Given the description of an element on the screen output the (x, y) to click on. 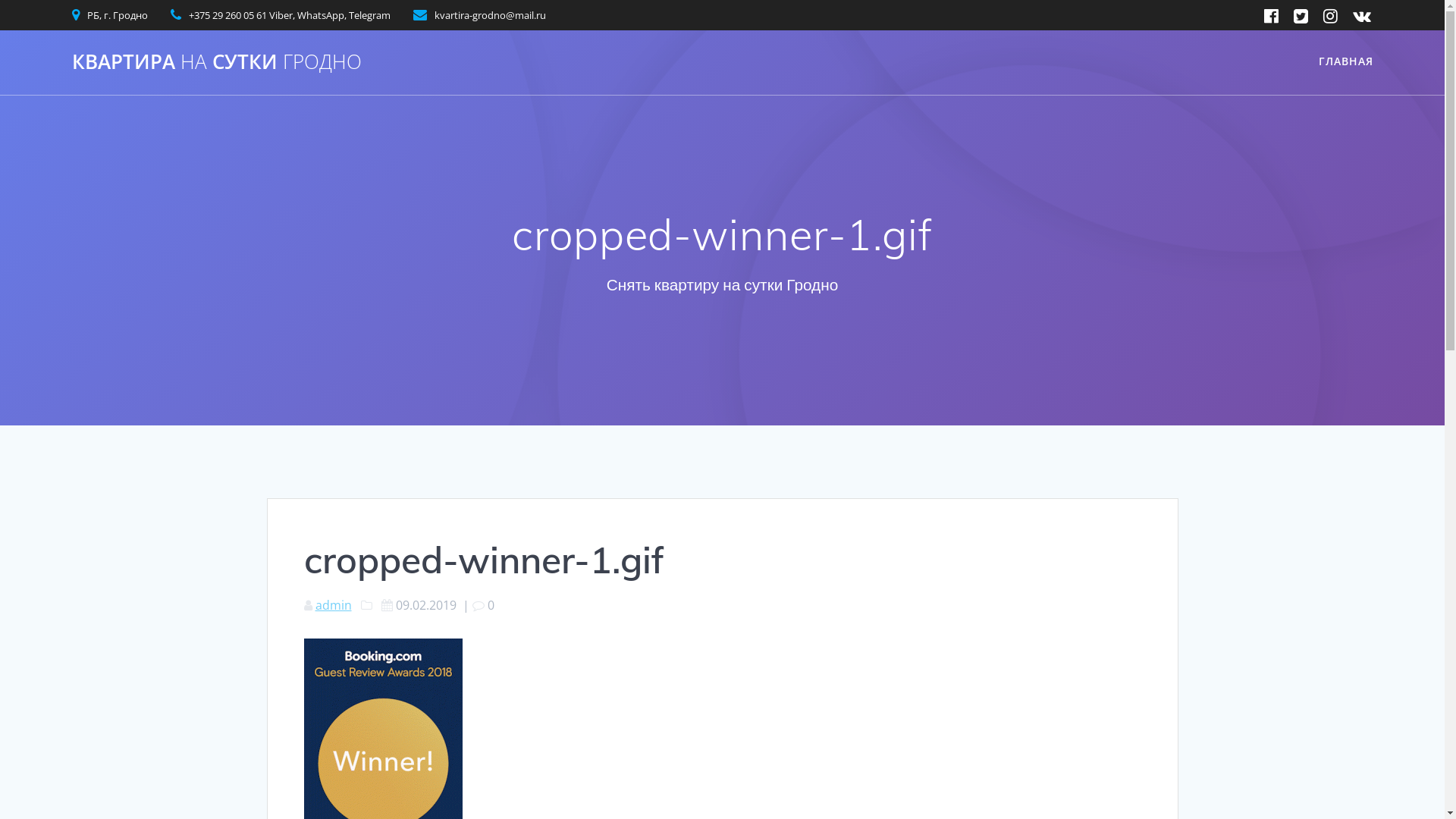
admin Element type: text (333, 604)
